Given the description of an element on the screen output the (x, y) to click on. 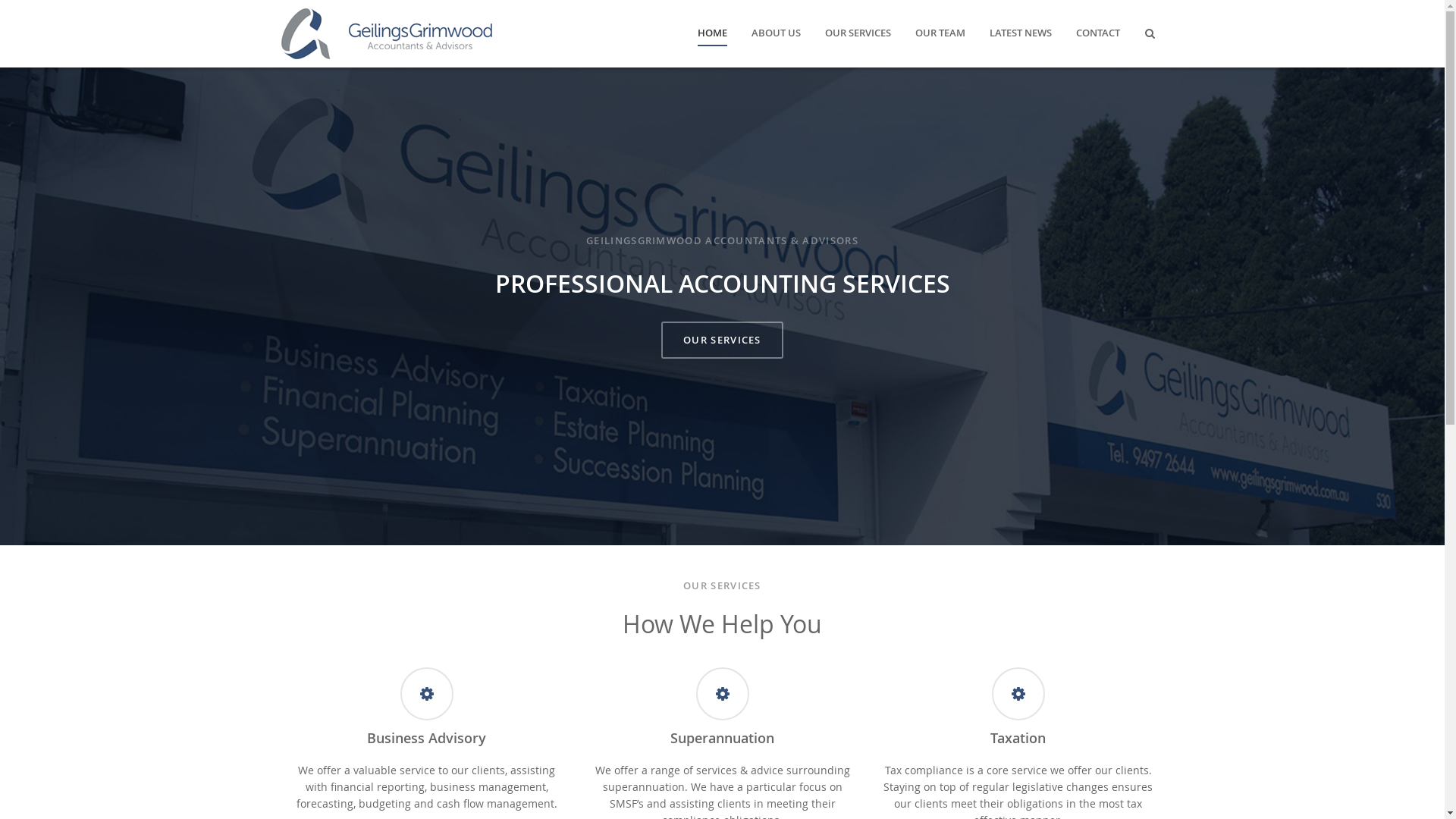
OUR SERVICES Element type: text (858, 33)
LATEST NEWS Element type: text (1019, 33)
Superannuation Element type: text (721, 737)
Business Advisory Element type: text (425, 737)
CONTACT Element type: text (1097, 33)
Taxation Element type: text (1017, 737)
HOME Element type: text (712, 33)
OUR TEAM Element type: text (939, 33)
OUR SERVICES Element type: text (722, 339)
ABOUT US Element type: text (775, 33)
